Given the description of an element on the screen output the (x, y) to click on. 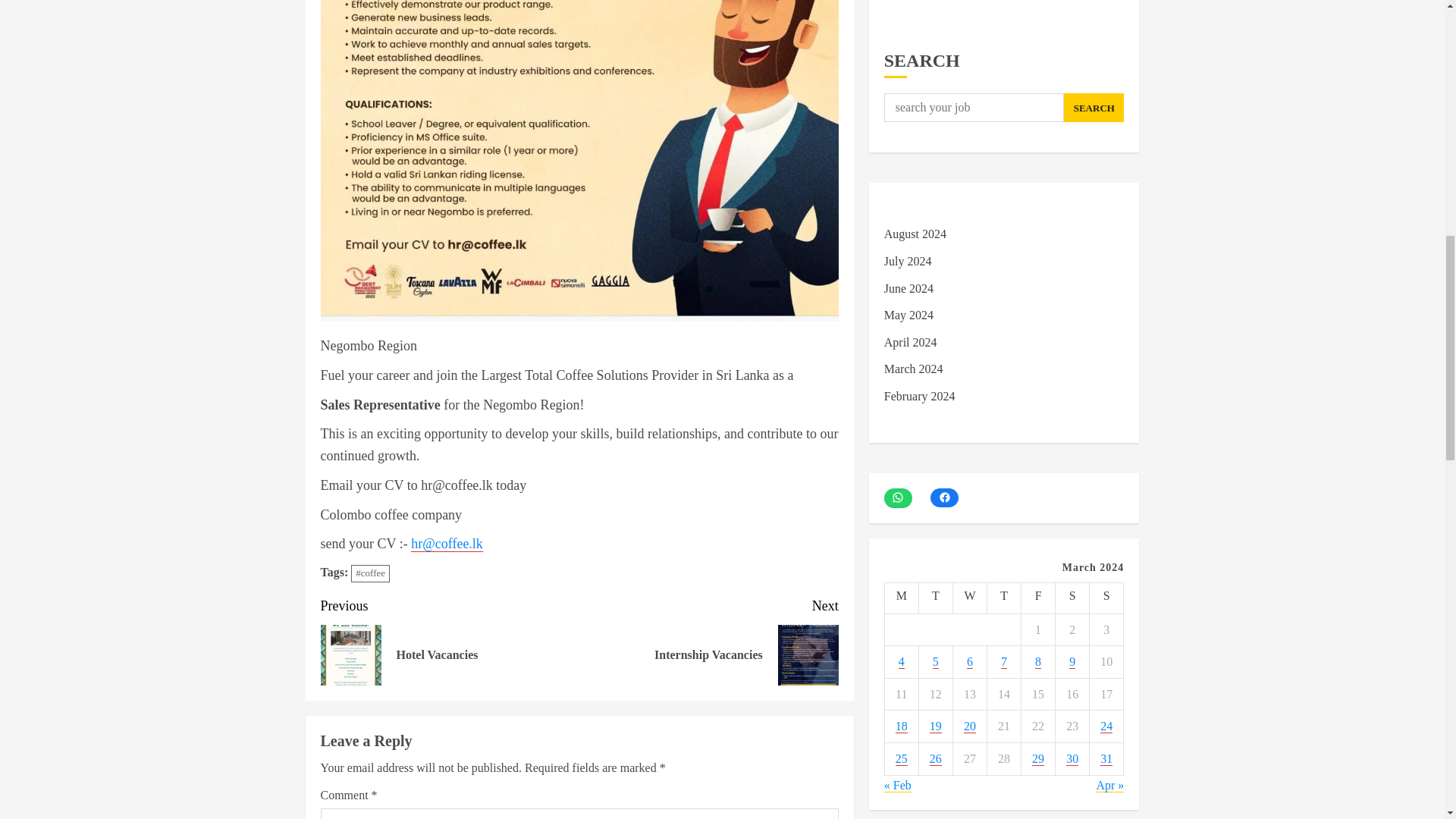
Tuesday (449, 640)
Monday (935, 597)
Saturday (900, 597)
Friday (1072, 597)
Thursday (1038, 597)
Wednesday (1003, 597)
Sunday (969, 597)
